Given the description of an element on the screen output the (x, y) to click on. 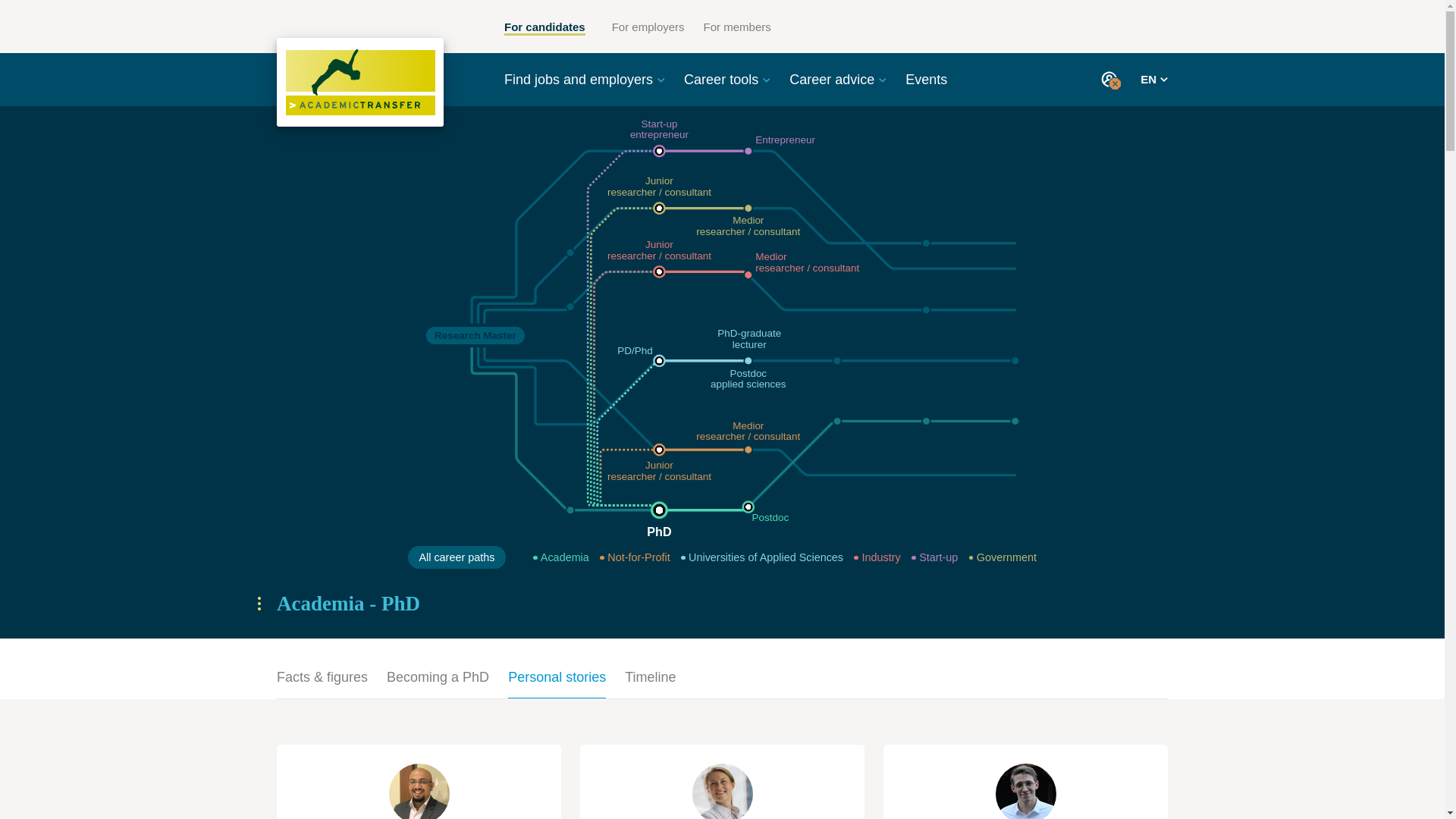
All career paths (456, 557)
AcademicTransfer (360, 82)
Becoming a PhD (438, 682)
Timeline (649, 682)
EN (1153, 79)
Not-for-Profit (634, 557)
Start-up (934, 557)
For candidates (544, 28)
Industry (876, 557)
For members (737, 26)
Academia (560, 557)
Universities of Applied Sciences (762, 557)
Events (926, 79)
Government (1002, 557)
For employers (647, 26)
